Given the description of an element on the screen output the (x, y) to click on. 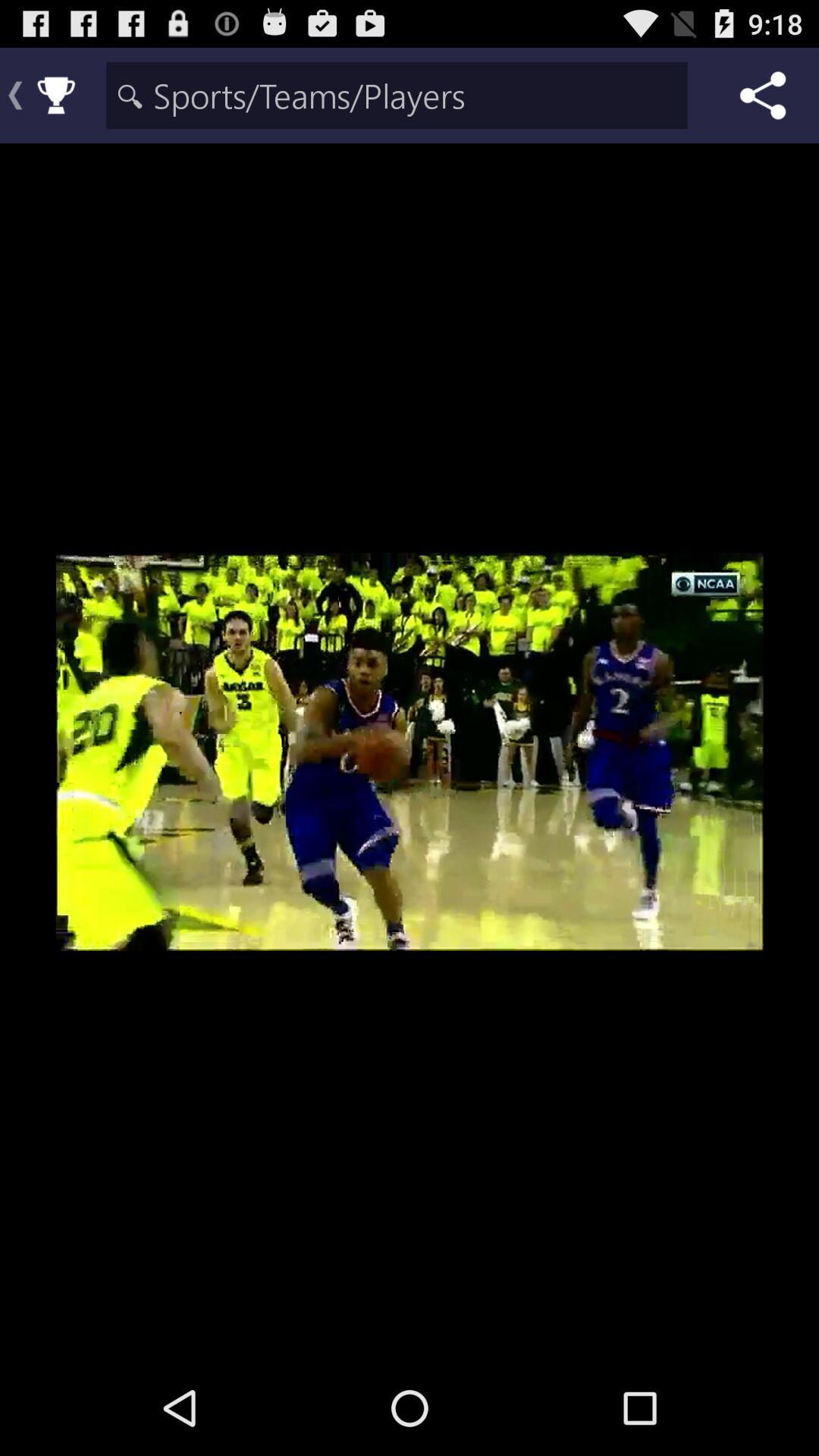
search for a specific team or player (396, 95)
